Given the description of an element on the screen output the (x, y) to click on. 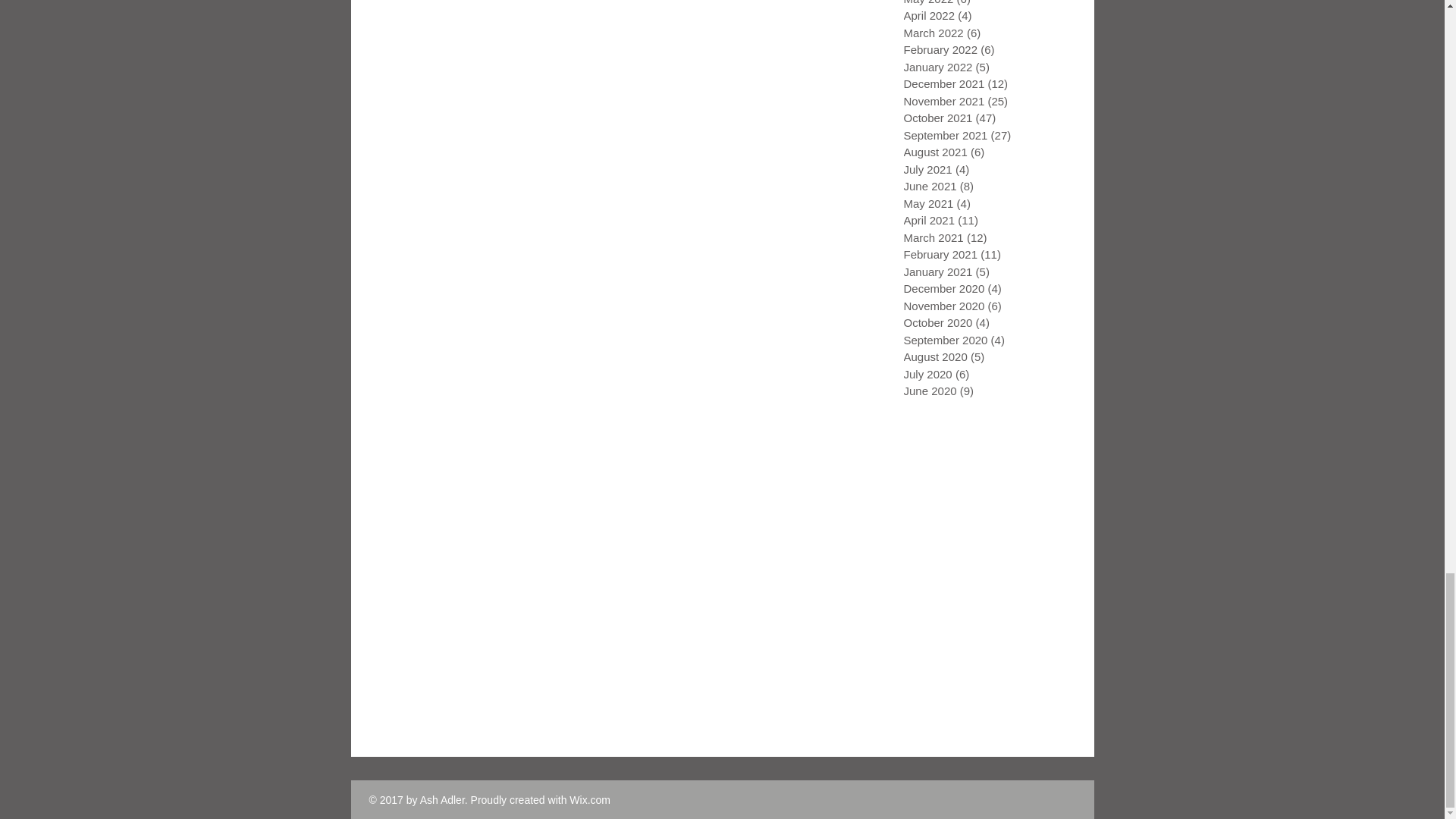
RSS Feed (385, 420)
